Given the description of an element on the screen output the (x, y) to click on. 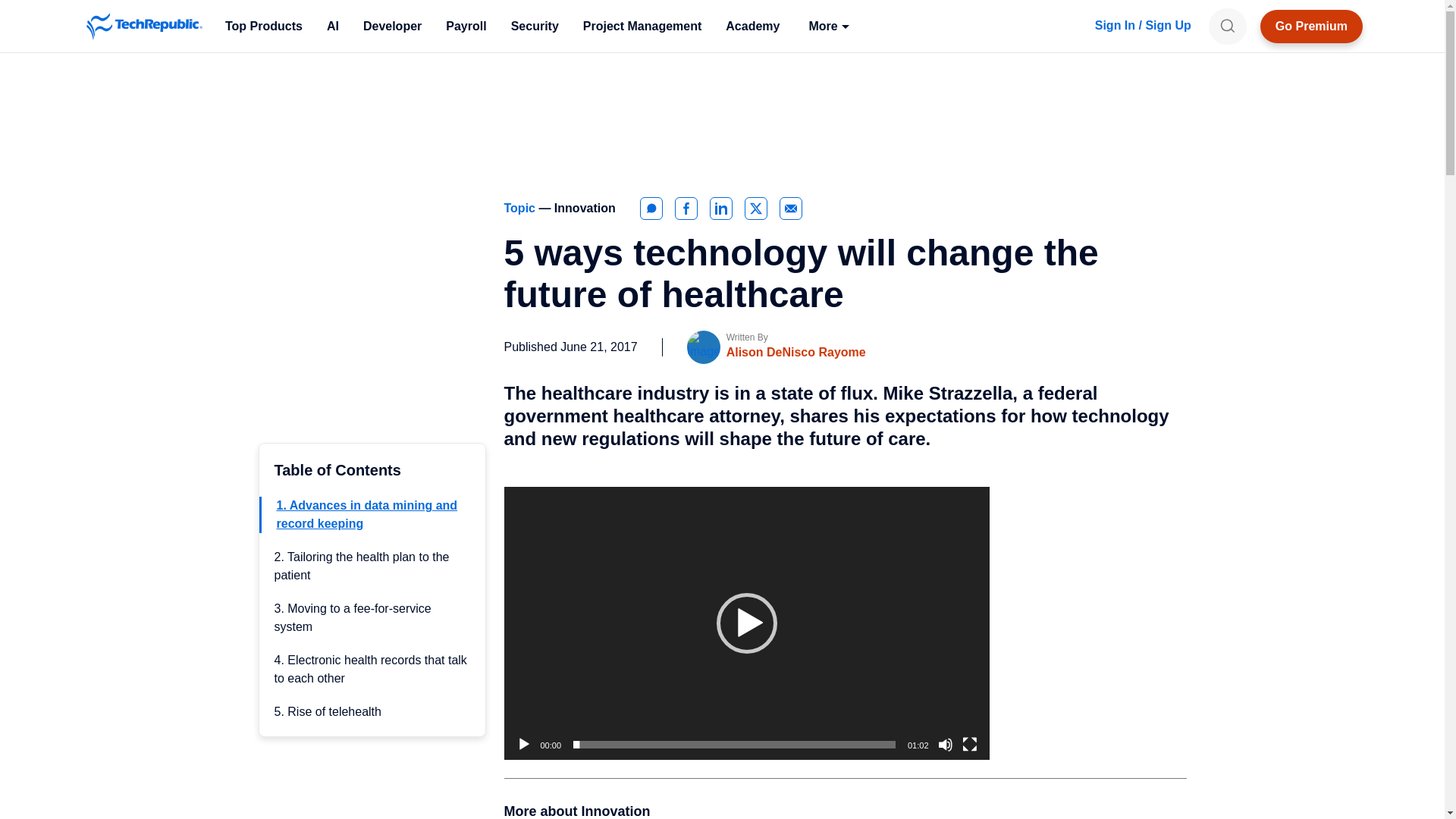
Go Premium (1311, 25)
Academy (752, 26)
3. Moving to a fee-for-service system (352, 617)
4. Electronic health records that talk to each other (371, 668)
Project Management (641, 26)
2. Tailoring the health plan to the patient (362, 565)
TechRepublic Premium (1311, 25)
1. Advances in data mining and record keeping (366, 513)
Fullscreen (968, 744)
TechRepublic (143, 25)
Mute (944, 744)
Topic (520, 207)
Payroll (465, 26)
Play (523, 744)
TechRepublic (143, 25)
